Given the description of an element on the screen output the (x, y) to click on. 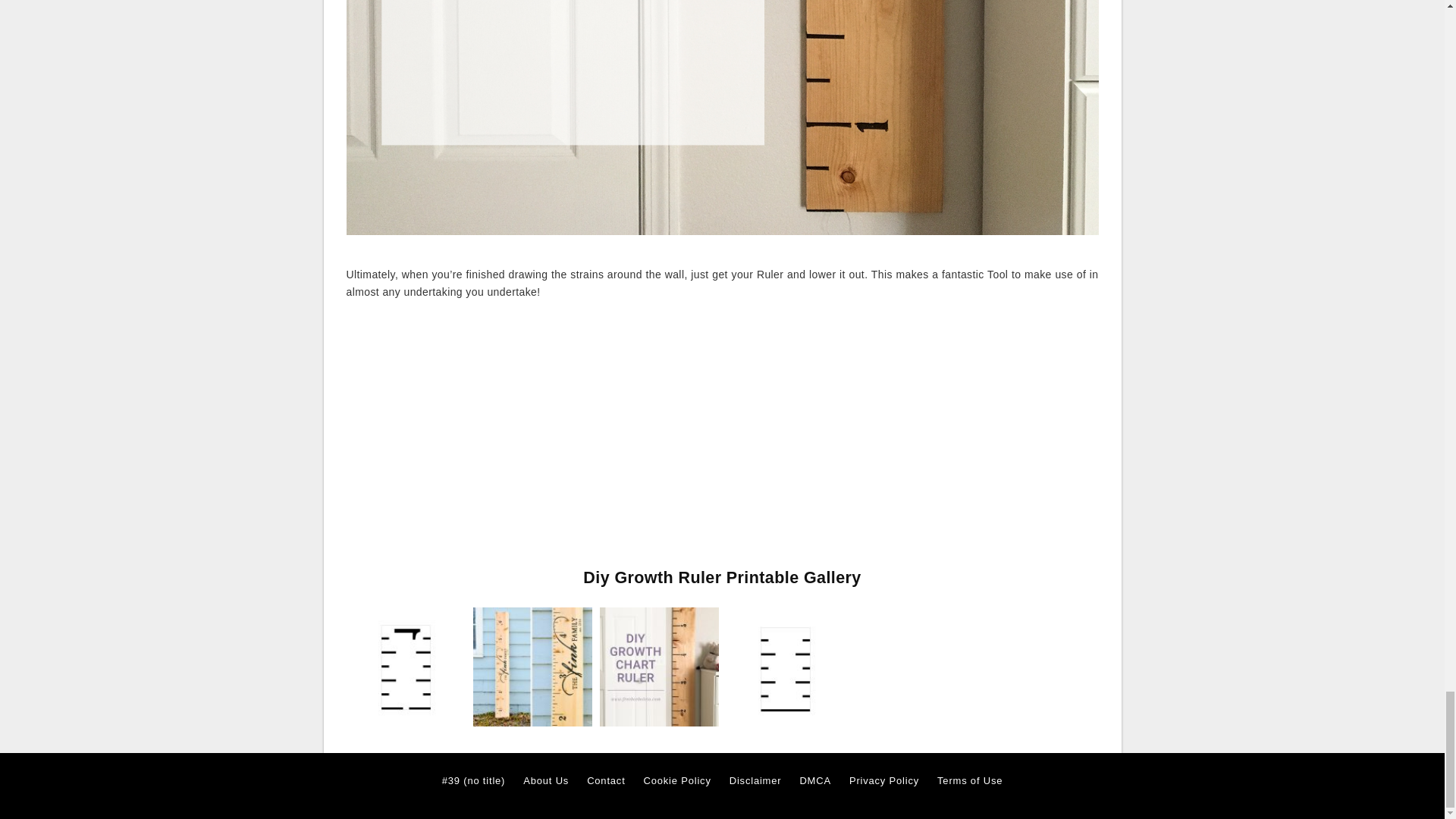
Cookie Policy (677, 781)
Disclaimer (755, 781)
Contact (605, 781)
About Us (545, 781)
Privacy Policy (883, 781)
DMCA (814, 781)
Terms of Use (970, 781)
